Given the description of an element on the screen output the (x, y) to click on. 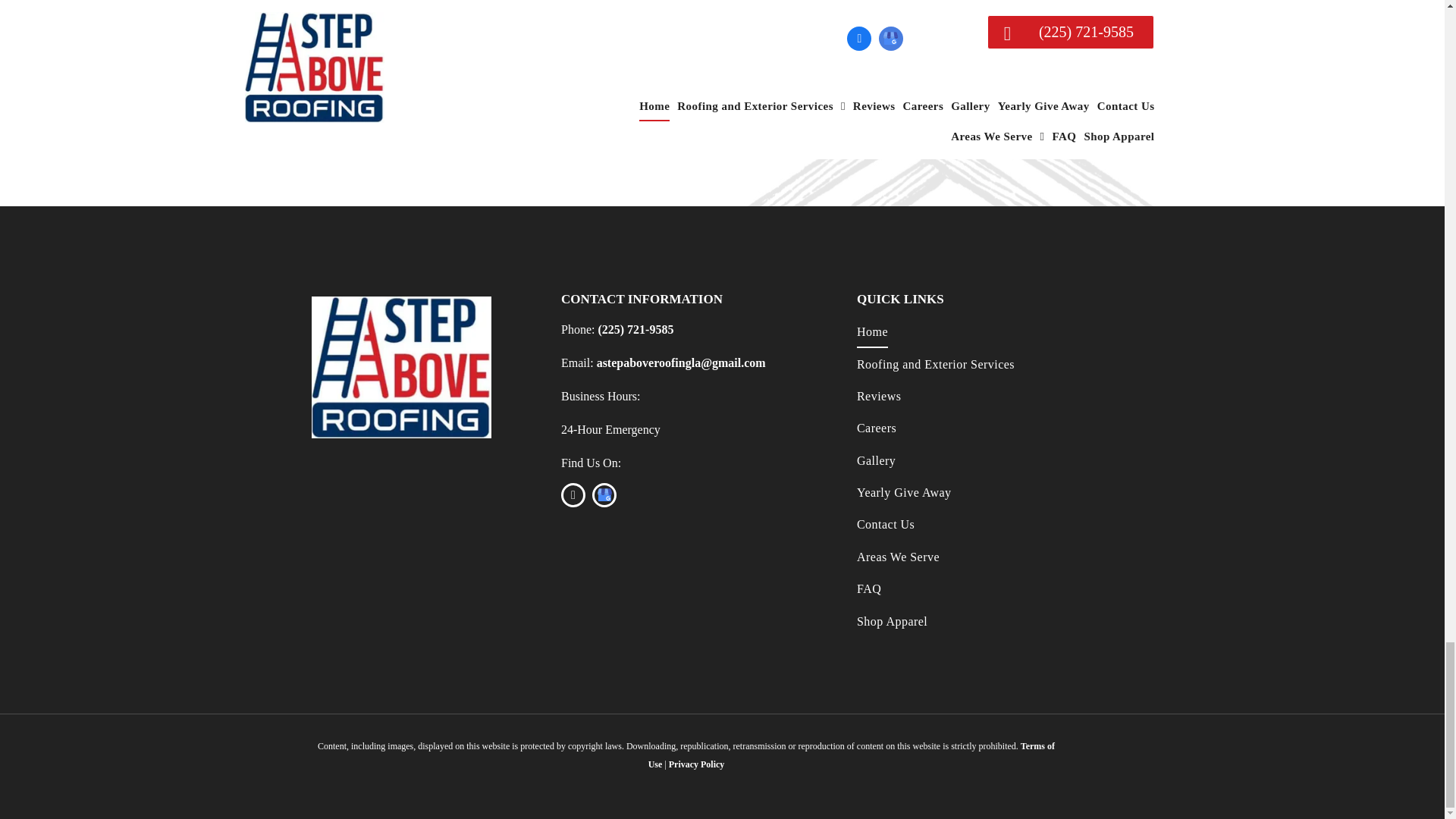
A Step Above Roofing (401, 366)
